Given the description of an element on the screen output the (x, y) to click on. 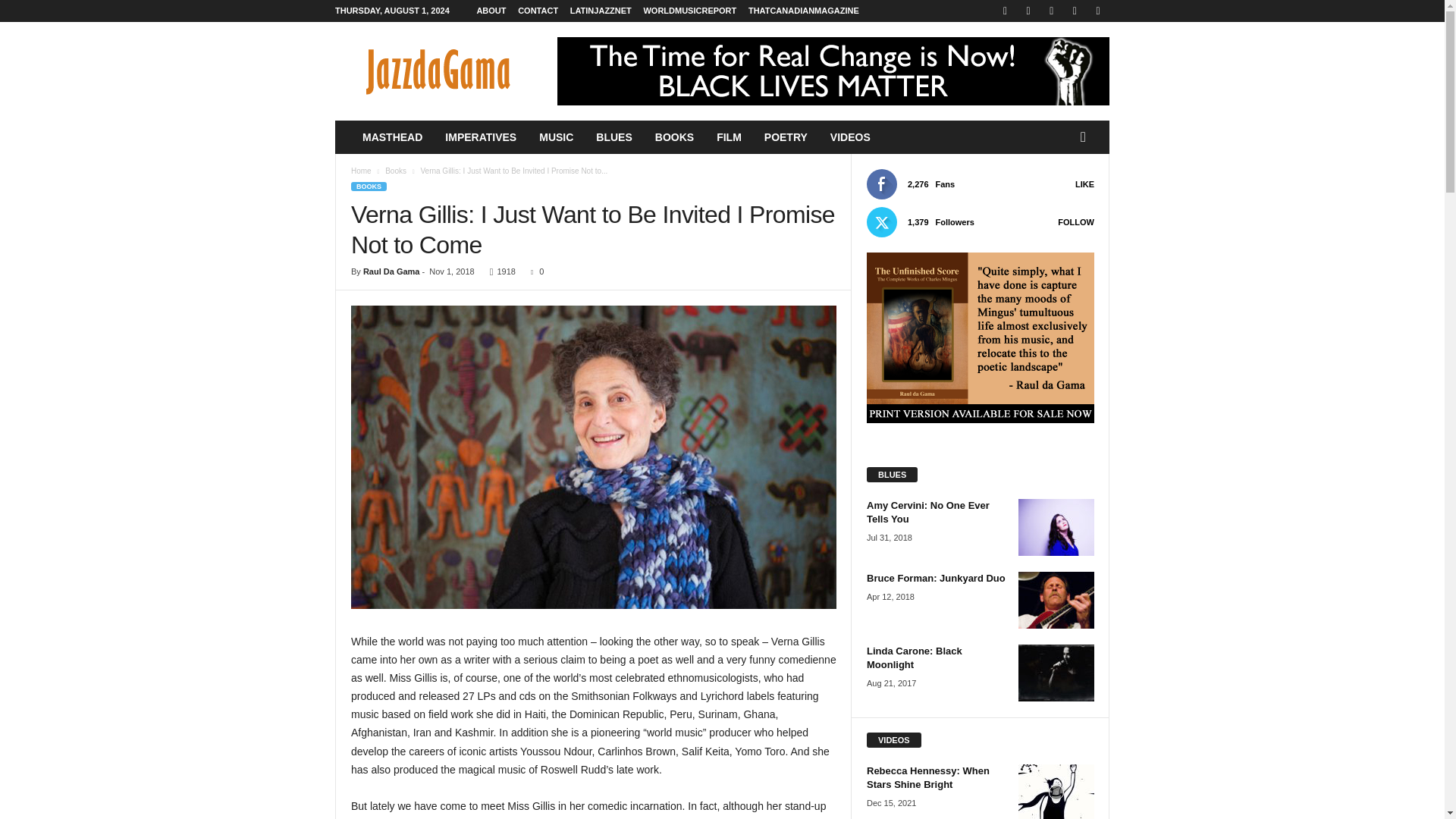
WORLDMUSICREPORT (689, 10)
thatcanadianmagazine (803, 10)
CONTACT (537, 10)
ABOUT (490, 10)
THATCANADIANMAGAZINE (803, 10)
IMPERATIVES (480, 136)
LATINJAZZNET (600, 10)
POETRY (785, 136)
Home (360, 171)
WorldMusicReport (689, 10)
BOOKS (673, 136)
MASTHEAD (391, 136)
Jazz da Gama (437, 70)
BLUES (614, 136)
Raul Da Gama (391, 271)
